Given the description of an element on the screen output the (x, y) to click on. 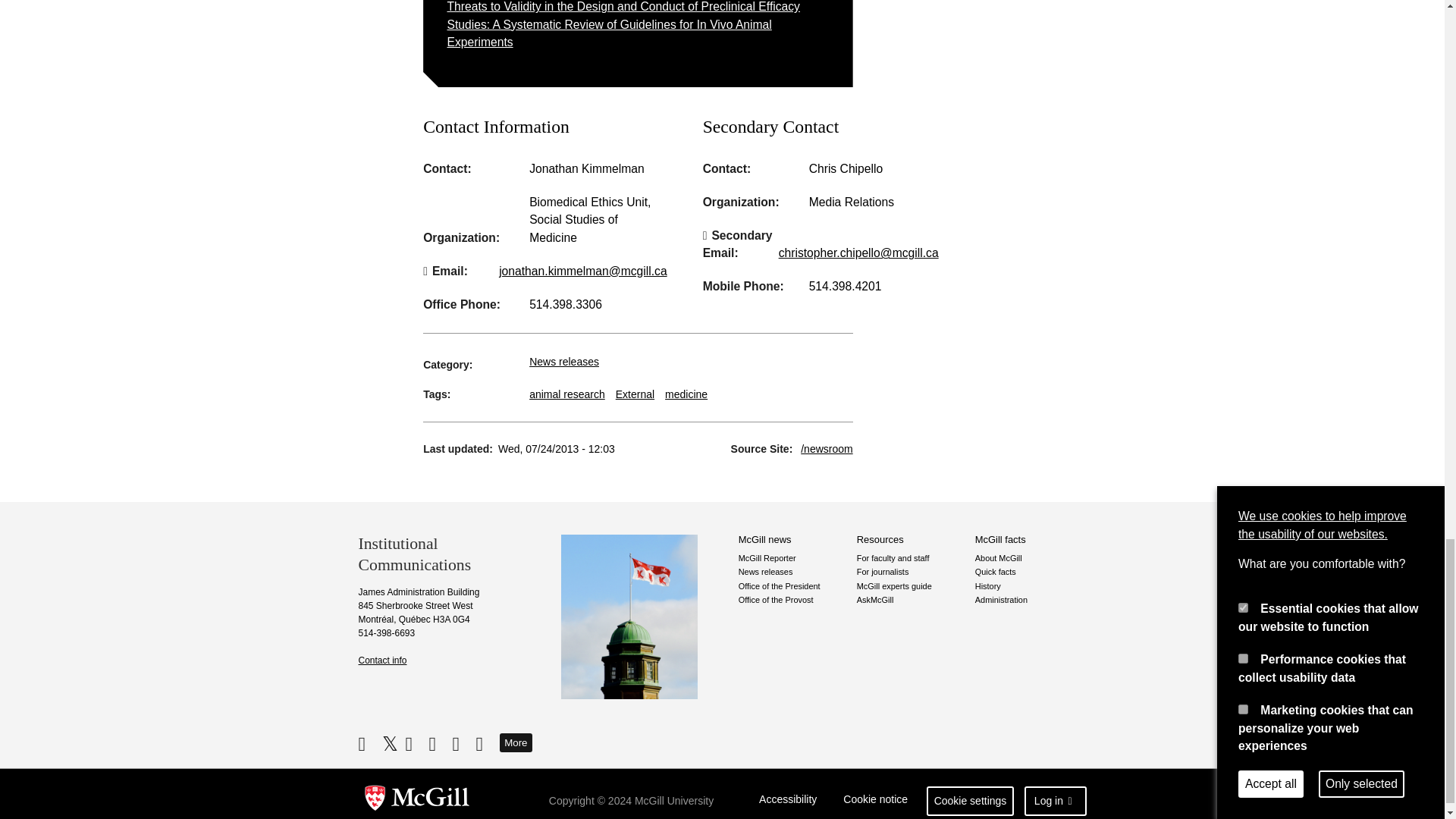
animal research (567, 394)
News releases (563, 361)
Contact info (382, 660)
medicine (686, 394)
External (634, 394)
